Given the description of an element on the screen output the (x, y) to click on. 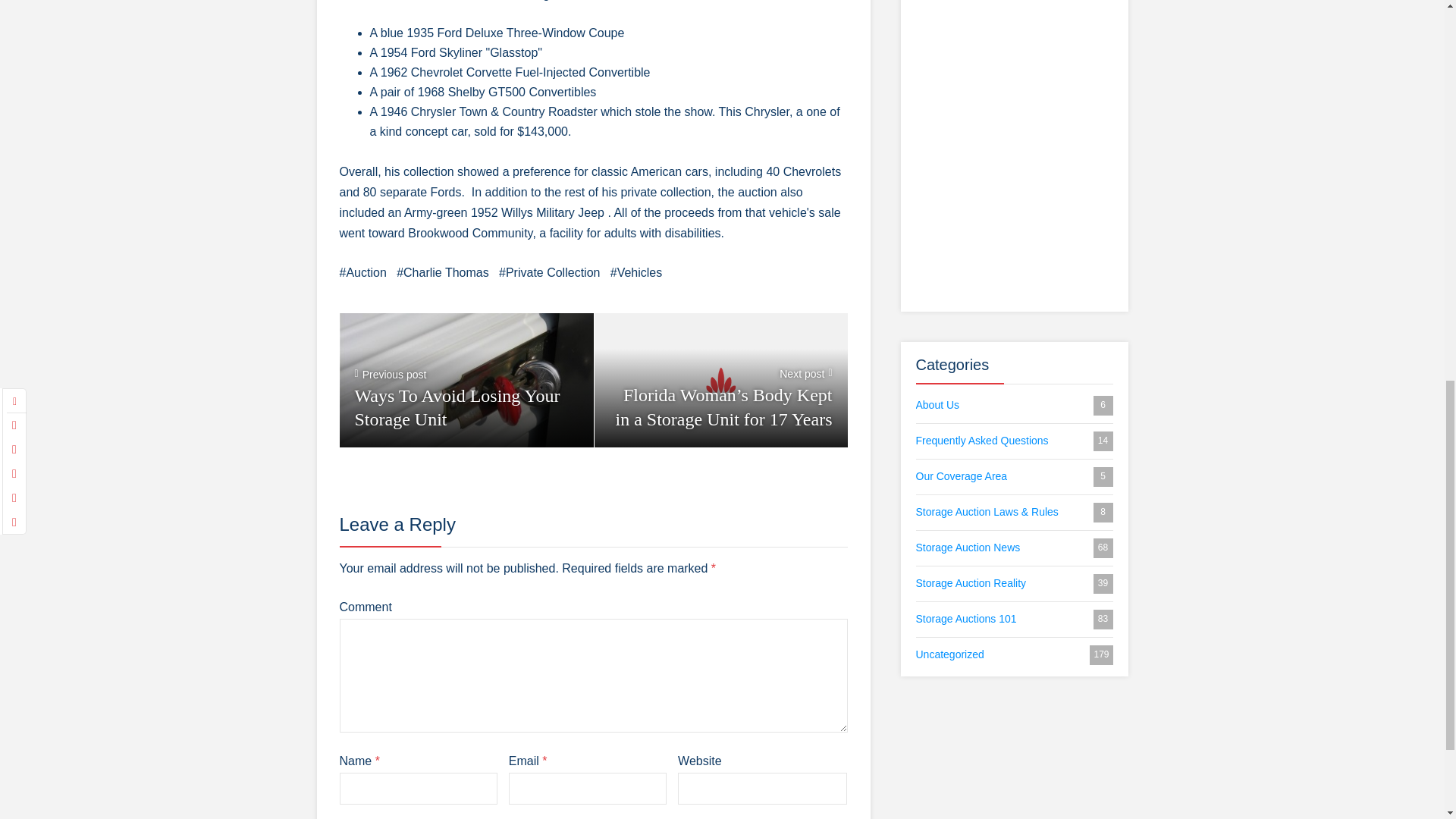
Laws and rules pertaining to storage auctions in Texas.  (1014, 512)
Auction (363, 272)
